Given the description of an element on the screen output the (x, y) to click on. 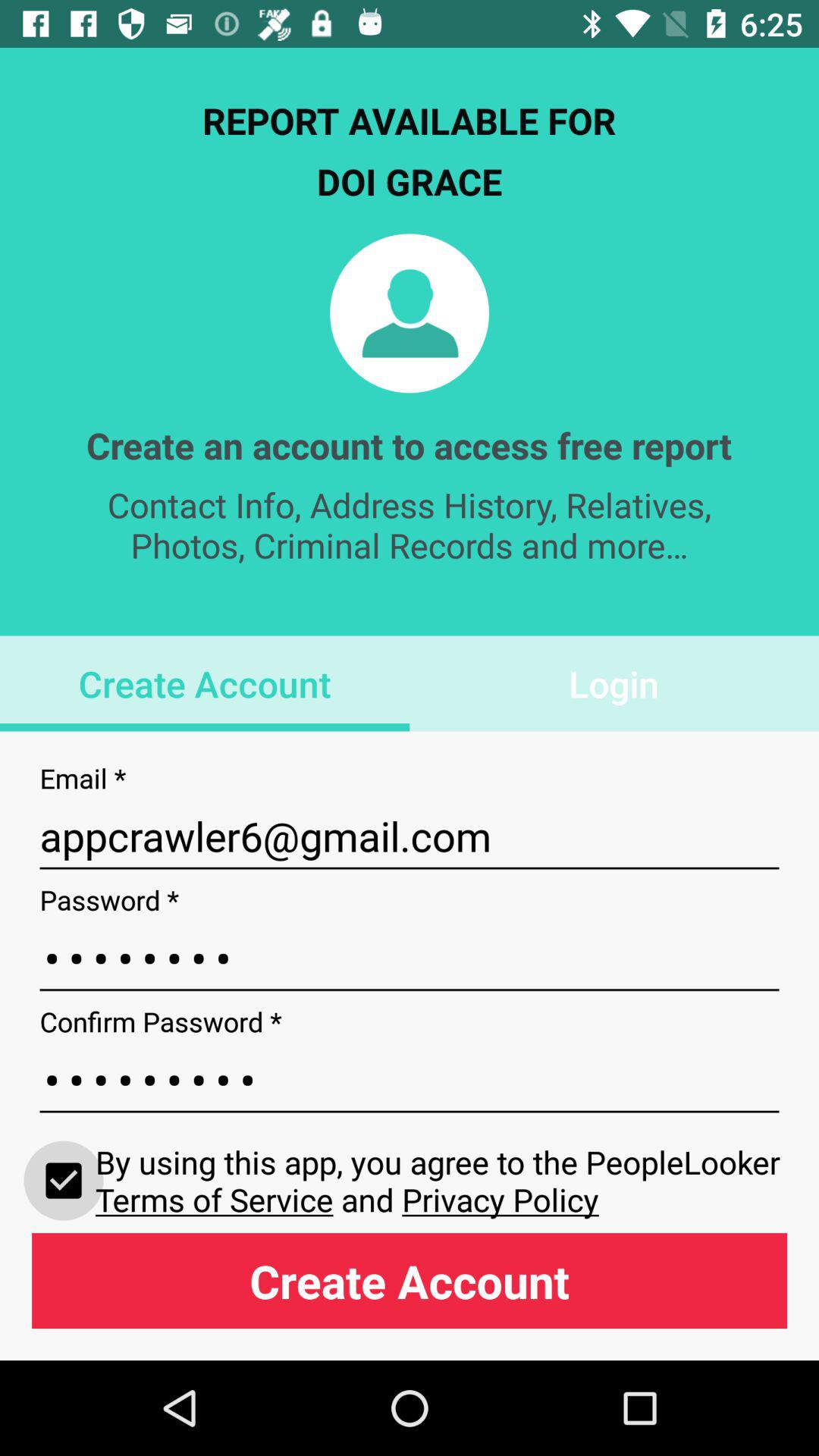
open item above crod3116 icon (409, 836)
